Given the description of an element on the screen output the (x, y) to click on. 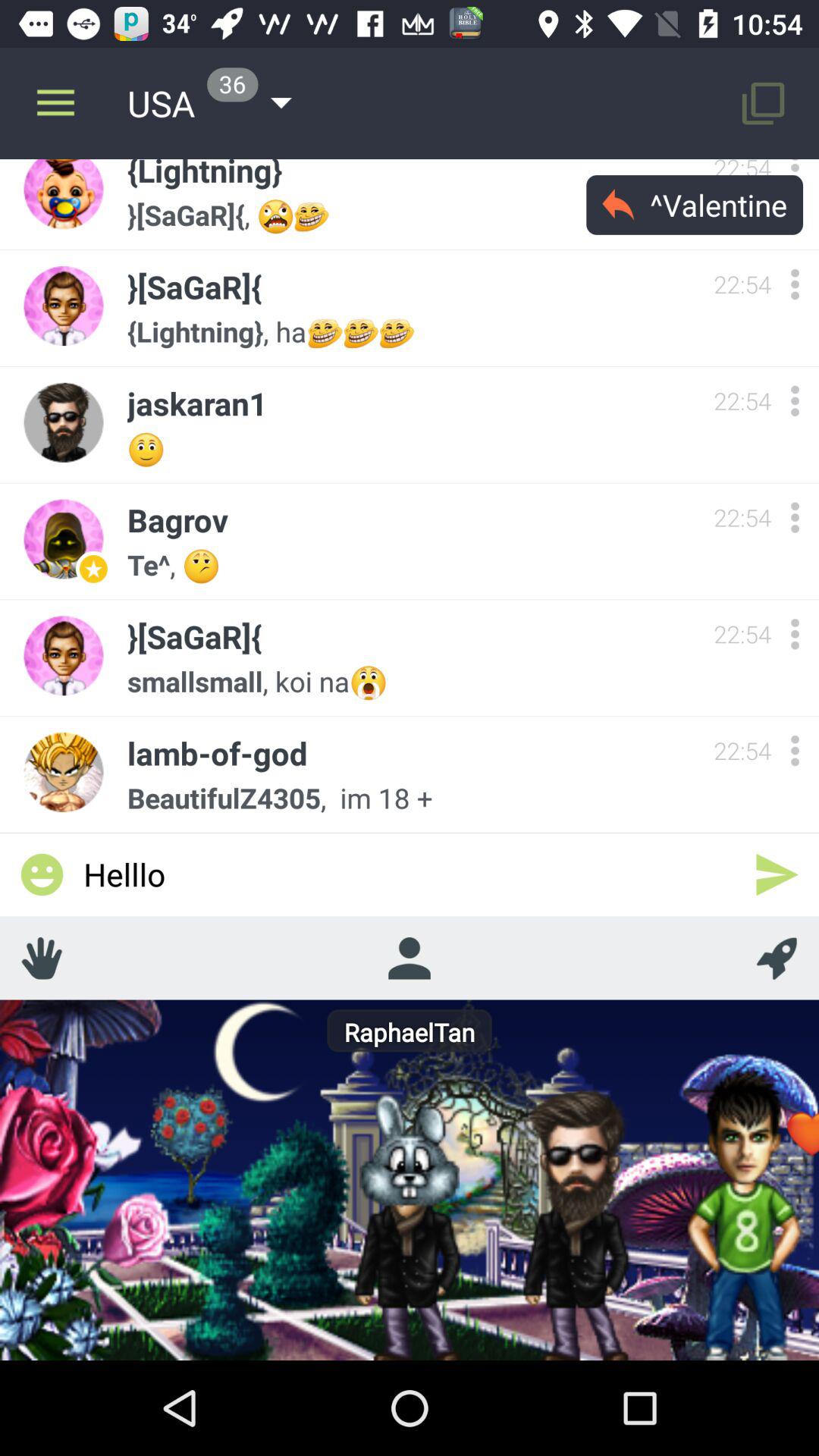
click the item next to helllo item (777, 874)
